Given the description of an element on the screen output the (x, y) to click on. 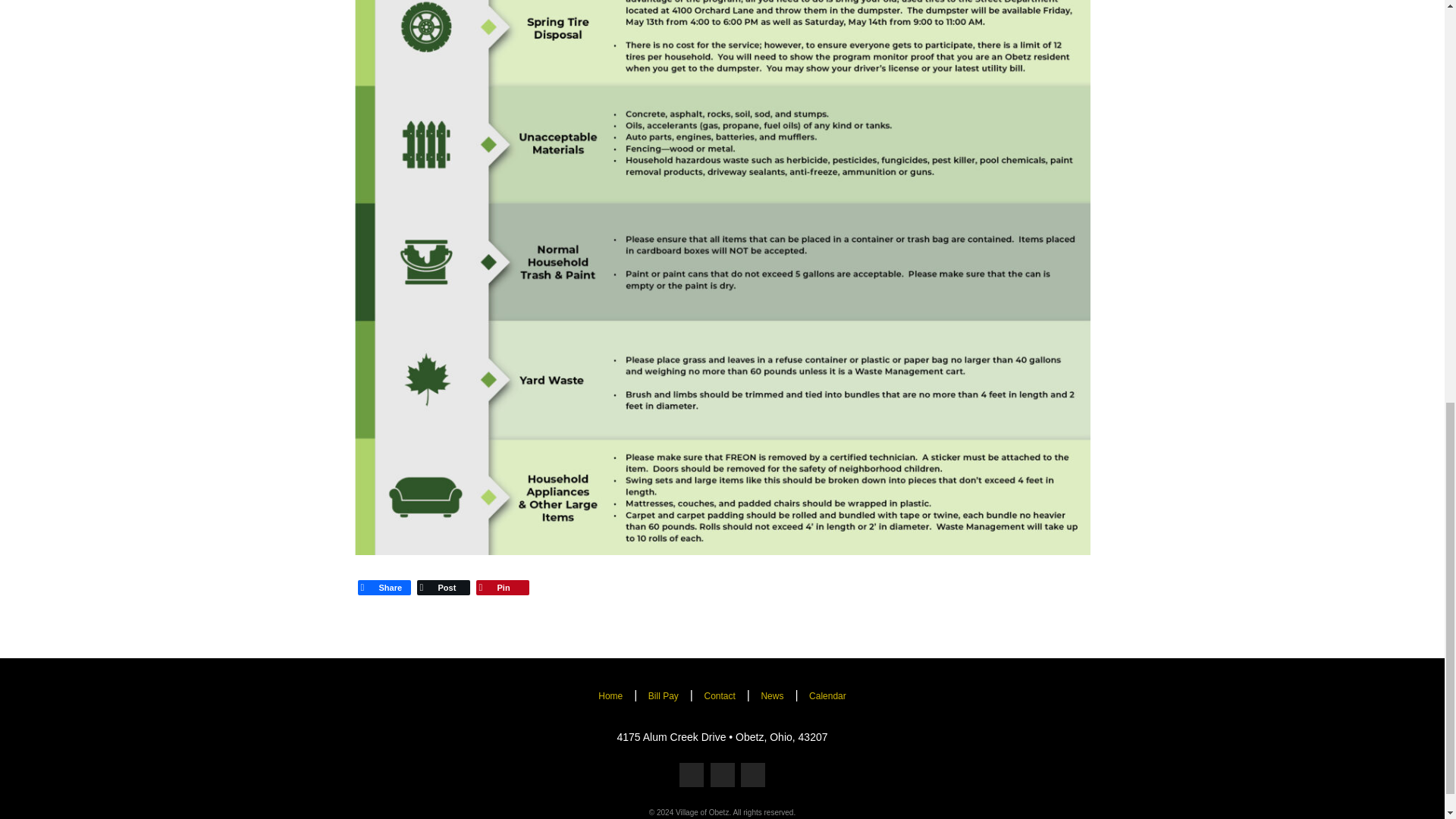
Pinterest (502, 587)
Facebook (384, 587)
